Given the description of an element on the screen output the (x, y) to click on. 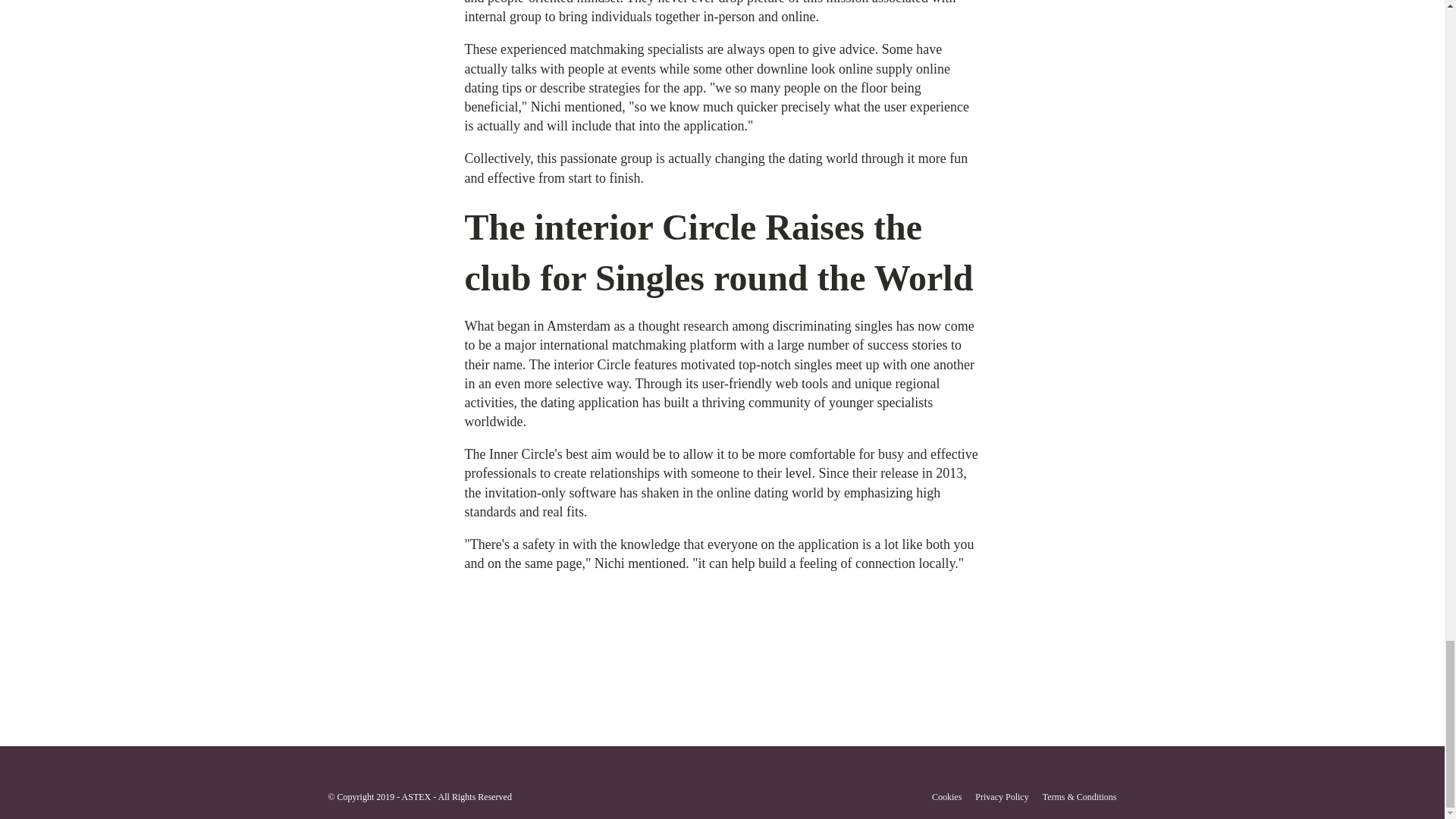
Privacy Policy (1001, 797)
Cookies (945, 797)
